Given the description of an element on the screen output the (x, y) to click on. 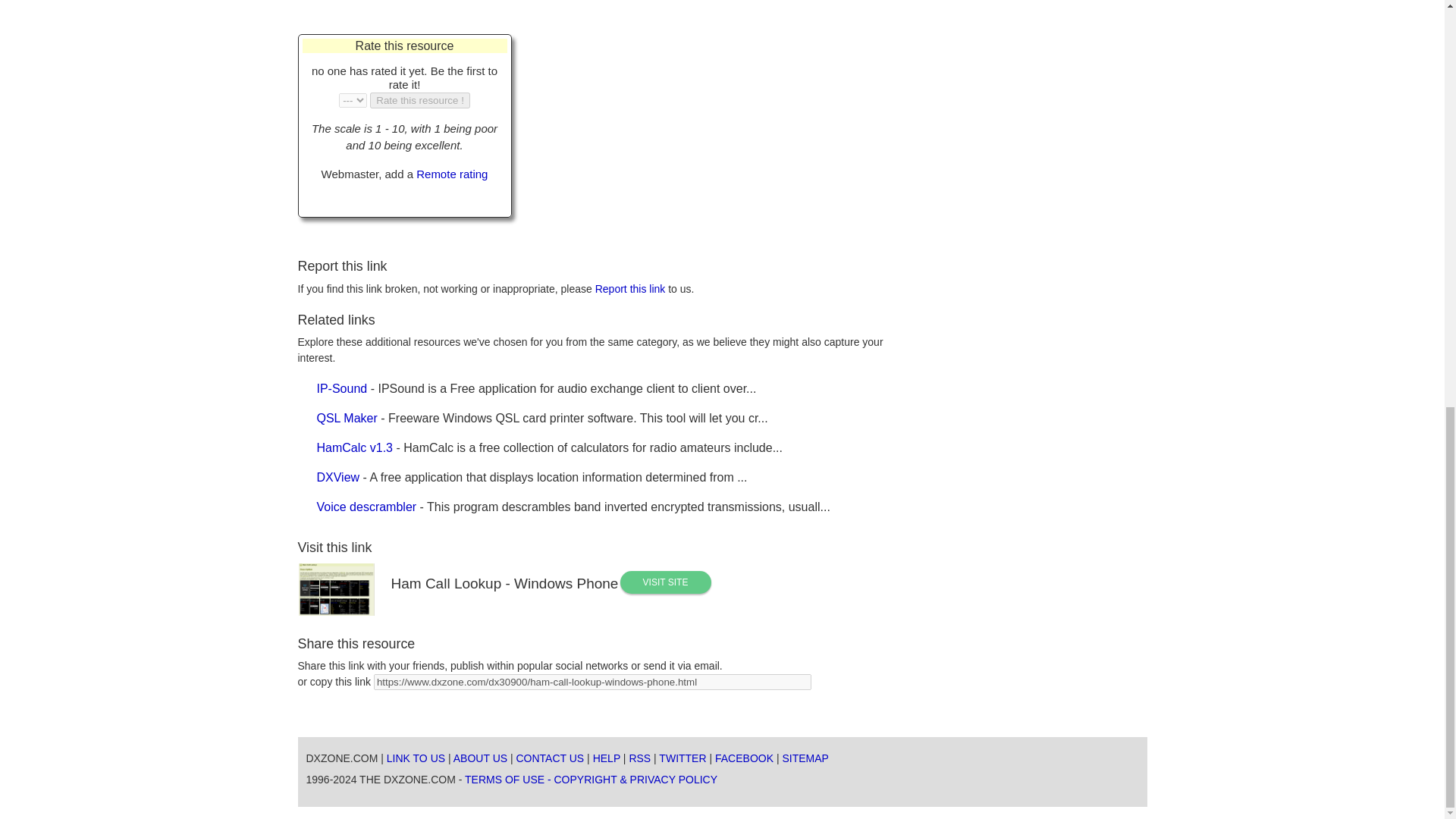
Rate this resource ! (419, 100)
IP-Sound (342, 388)
Voice descrambler (366, 506)
Ham Call Lookup - Windows Phone (665, 581)
VISIT SITE (665, 581)
QSL Maker (347, 418)
Rate this resource ! (419, 100)
HamCalc v1.3 (355, 447)
Report this link (630, 288)
DXView (338, 477)
Remote rating (451, 173)
